Given the description of an element on the screen output the (x, y) to click on. 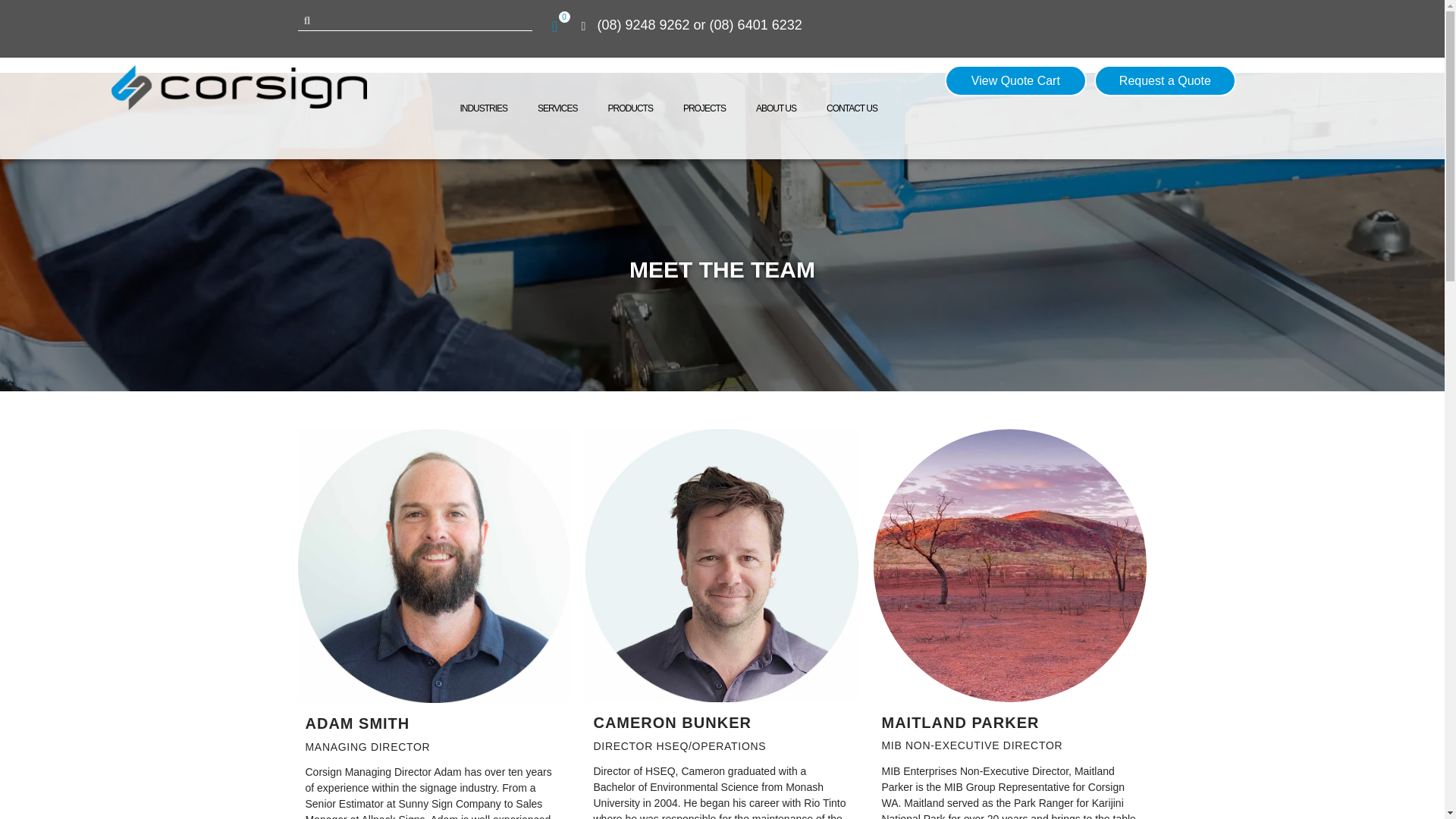
CONTACT US (851, 108)
INDUSTRIES (483, 108)
0 (554, 26)
